Given the description of an element on the screen output the (x, y) to click on. 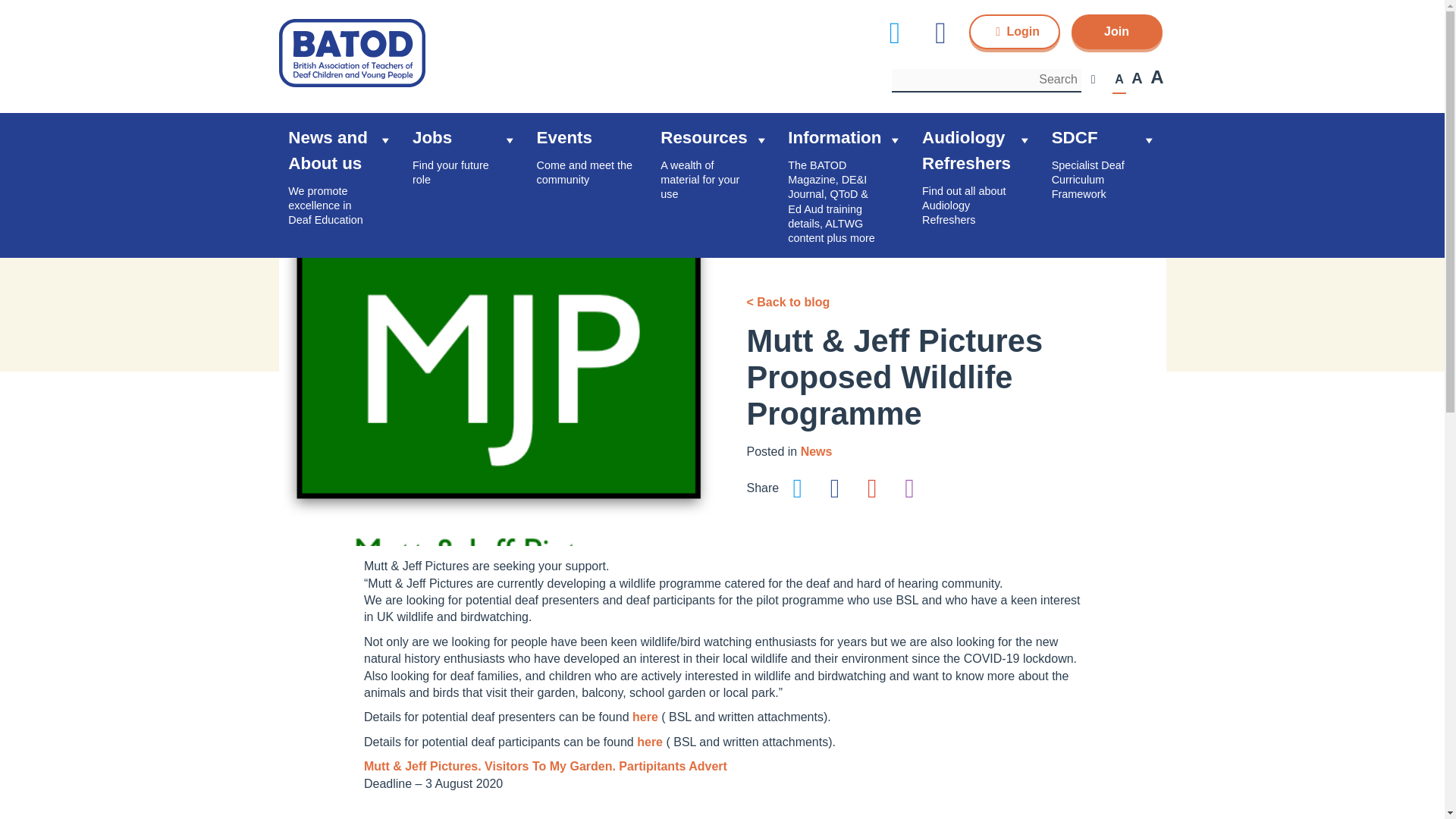
Logo (352, 51)
Join (1104, 40)
